Given the description of an element on the screen output the (x, y) to click on. 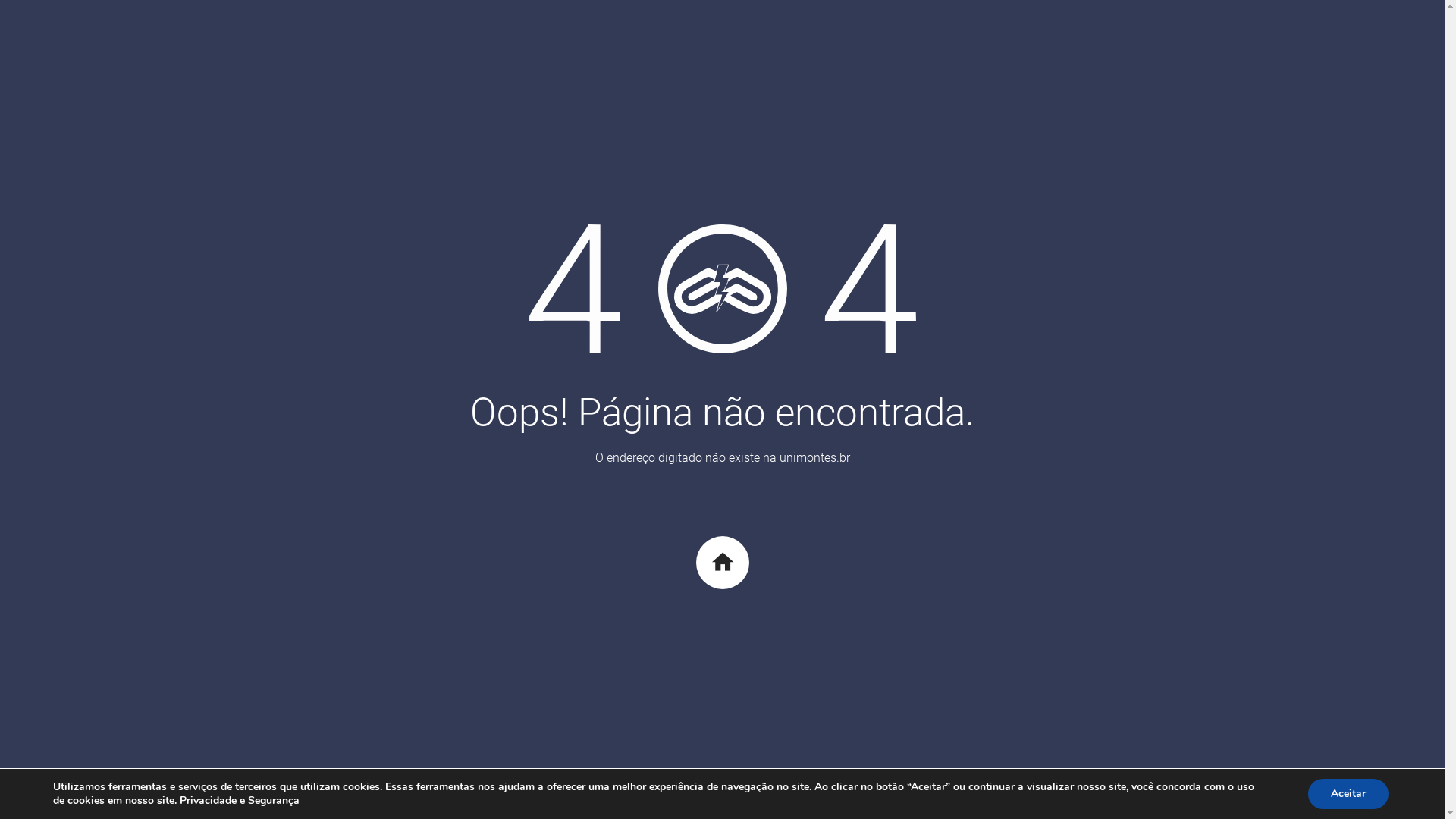
Aceitar Element type: text (1348, 793)
